Given the description of an element on the screen output the (x, y) to click on. 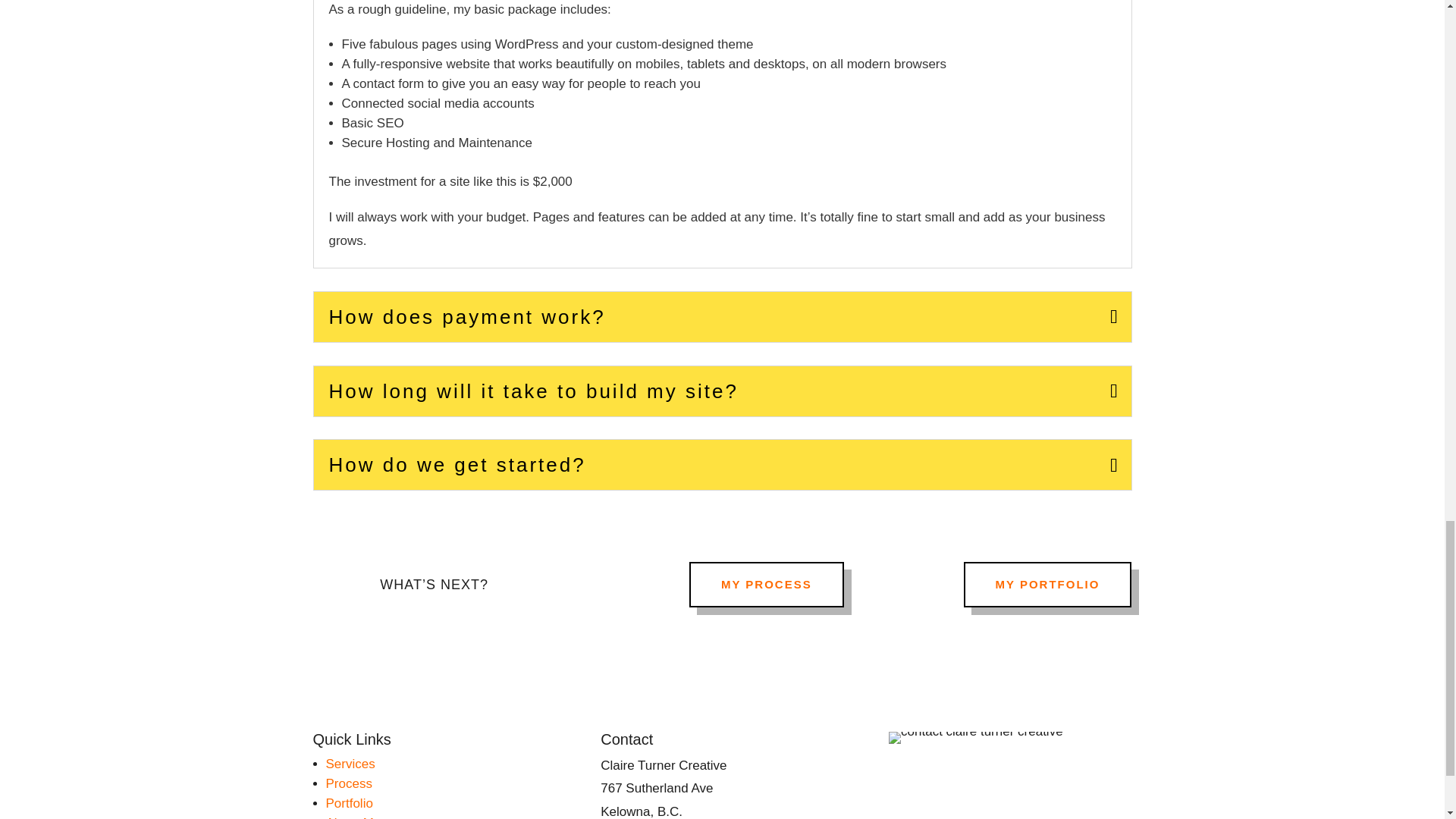
Process (349, 783)
portfolio (349, 803)
process (349, 783)
contact-birds (975, 737)
Portfolio (349, 803)
MY PORTFOLIO (1047, 584)
MY PROCESS (766, 584)
Services (350, 763)
About (353, 817)
About Me (353, 817)
